Given the description of an element on the screen output the (x, y) to click on. 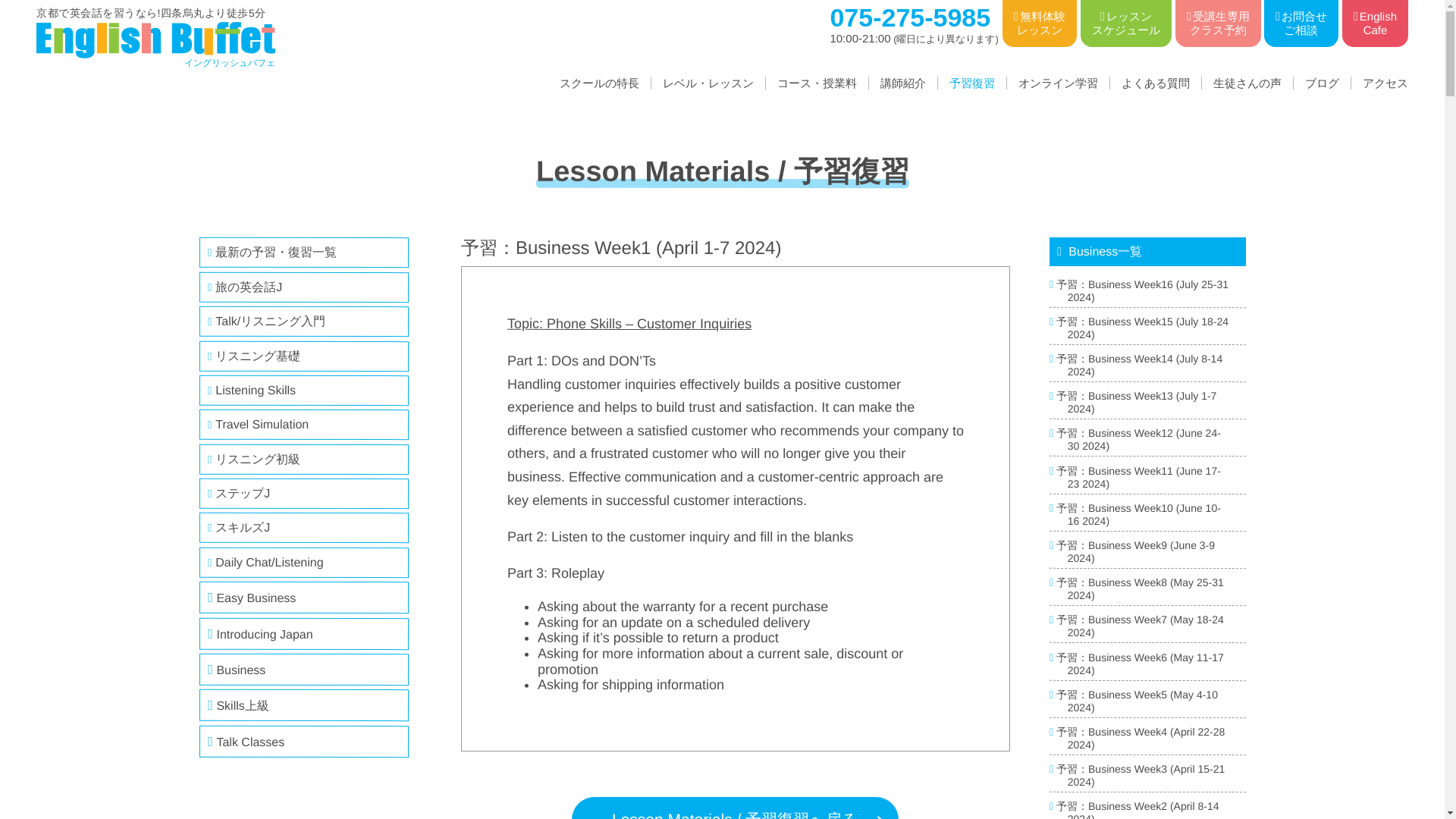
075-275-5985 (1374, 23)
Travel Simulation (909, 21)
Introducing Japan (302, 424)
Listening Skills (302, 633)
Easy Business (302, 390)
